Given the description of an element on the screen output the (x, y) to click on. 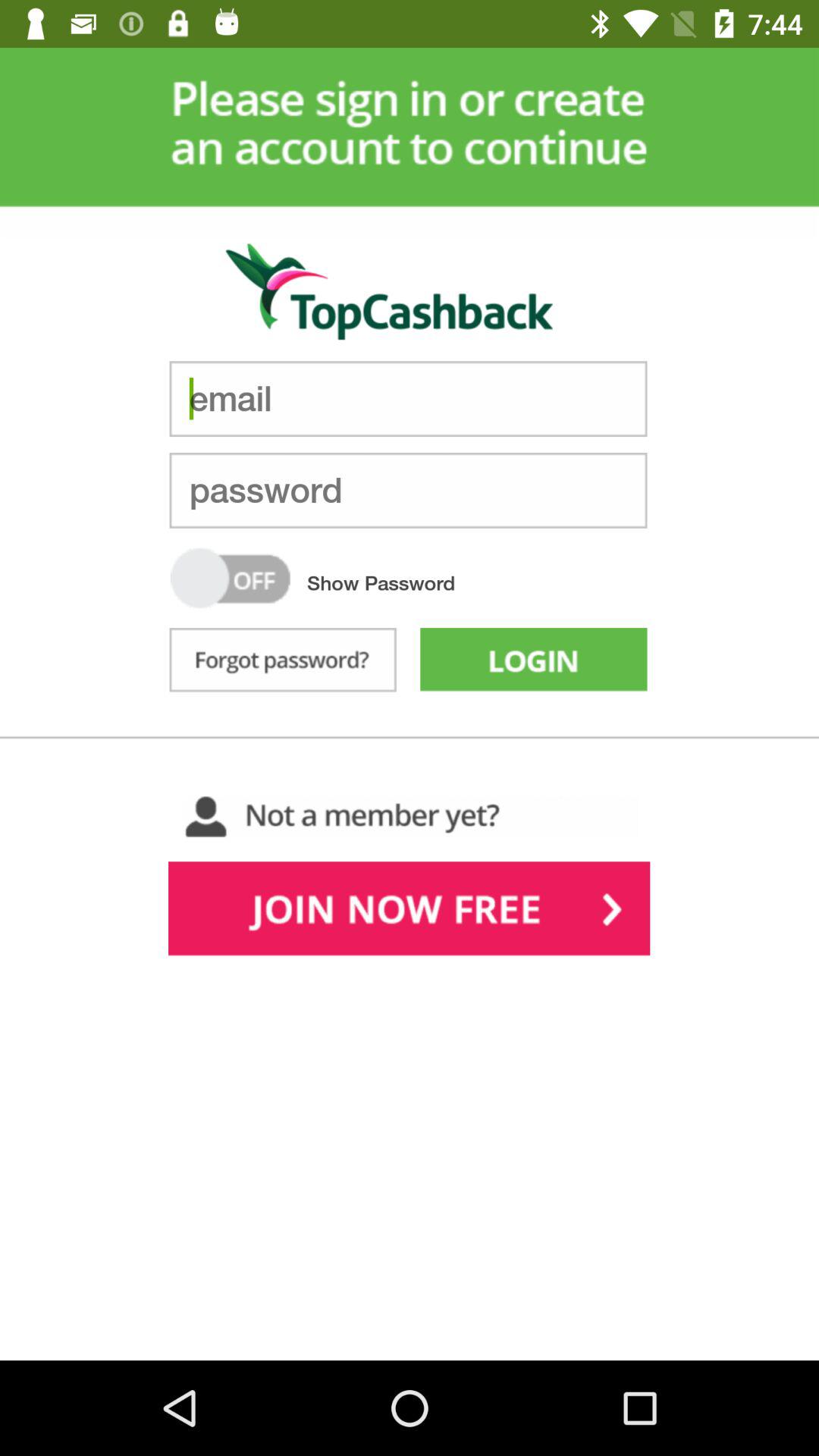
enter email address (408, 398)
